Given the description of an element on the screen output the (x, y) to click on. 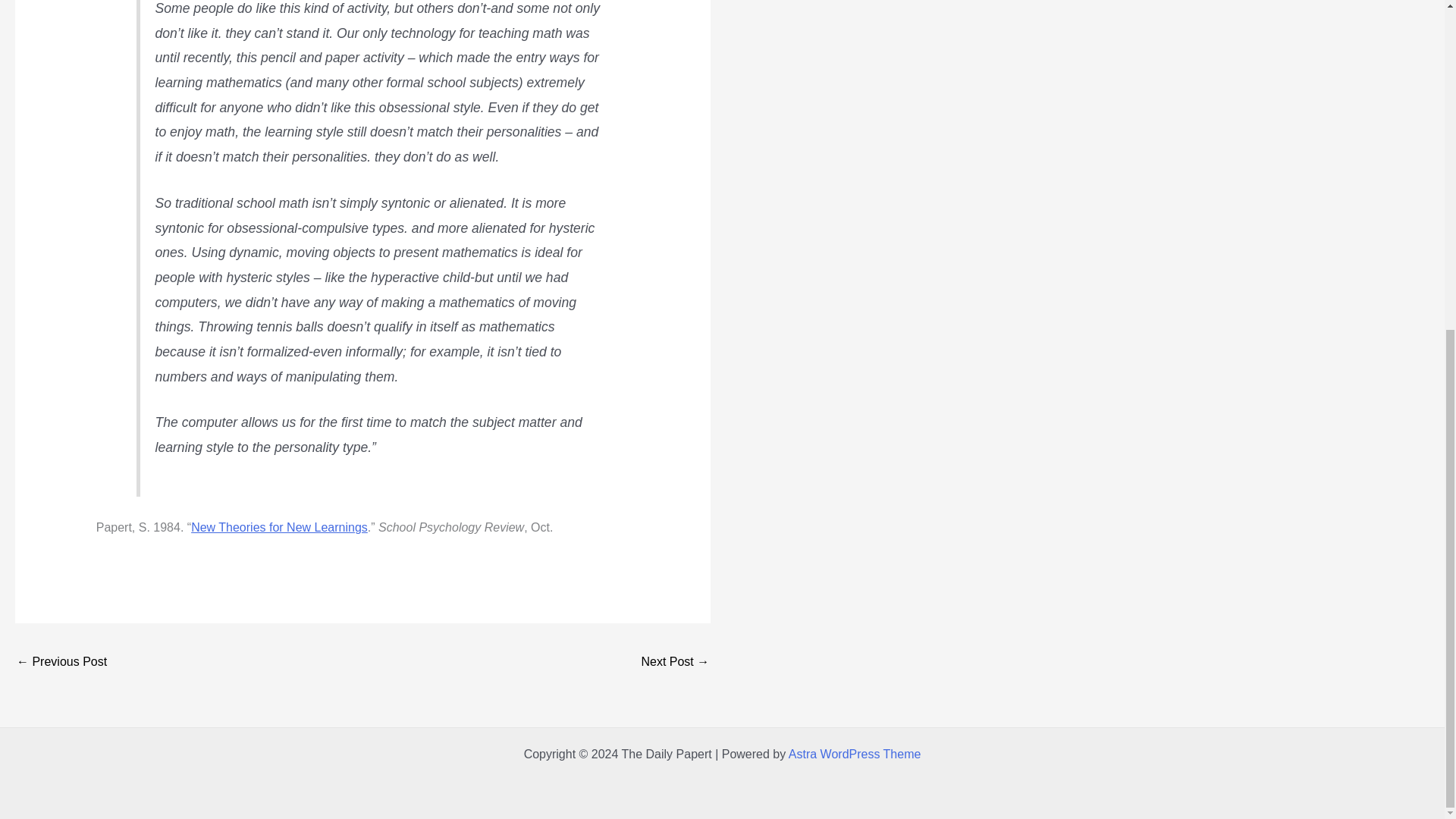
September 22, 2012 (674, 663)
New Theories for New Learnings (279, 526)
Complete original paper (279, 526)
Astra WordPress Theme (855, 753)
September 20, 2011 (61, 663)
